Given the description of an element on the screen output the (x, y) to click on. 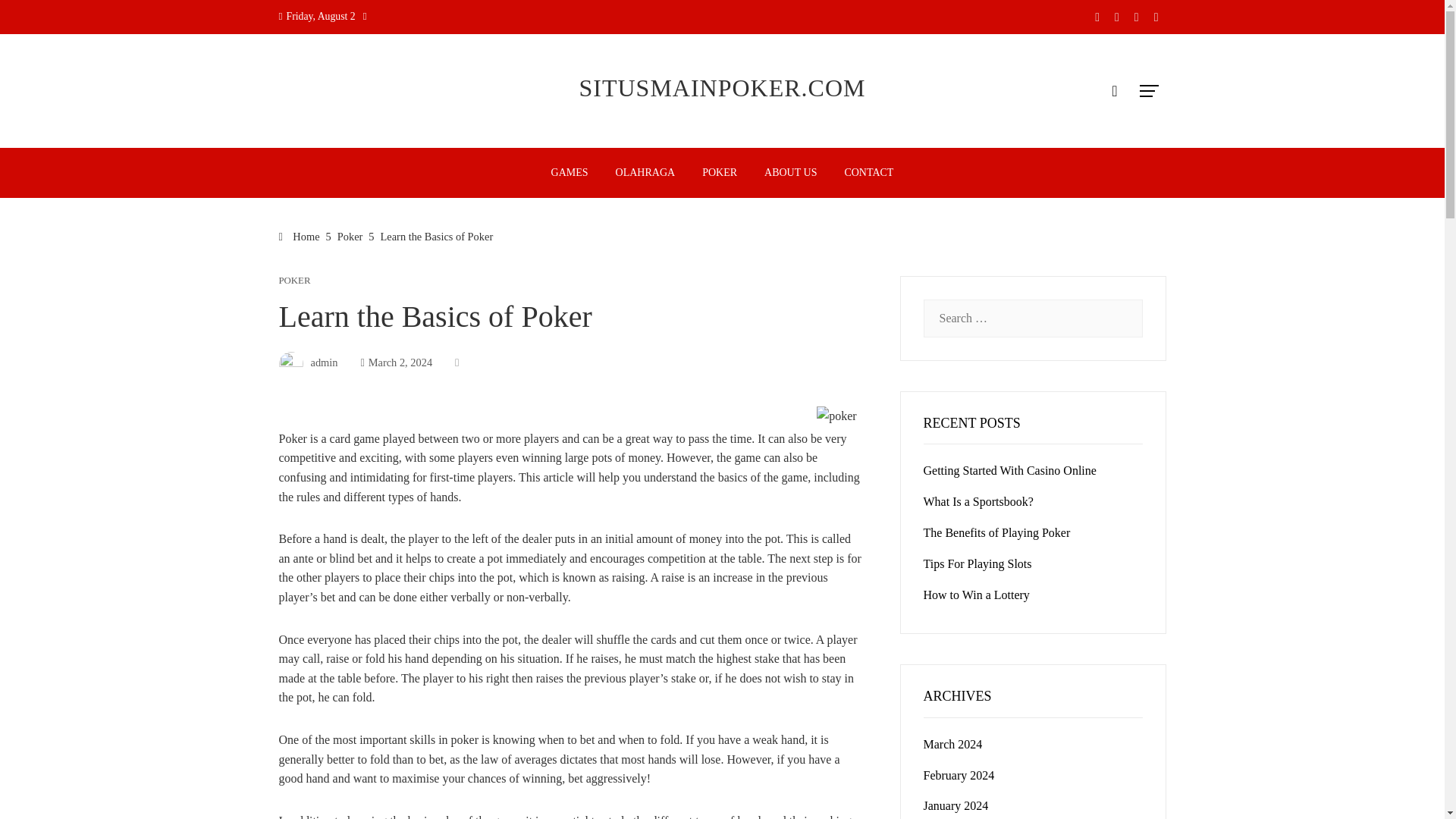
February 2024 (958, 775)
January 2024 (955, 805)
Search (35, 18)
Home (299, 236)
OLAHRAGA (645, 173)
POKER (719, 173)
March 2024 (952, 744)
The Benefits of Playing Poker (996, 532)
SITUSMAINPOKER.COM (721, 87)
GAMES (569, 173)
ABOUT US (790, 173)
Getting Started With Casino Online (1009, 470)
How to Win a Lottery (976, 594)
POKER (295, 280)
Poker (349, 236)
